Given the description of an element on the screen output the (x, y) to click on. 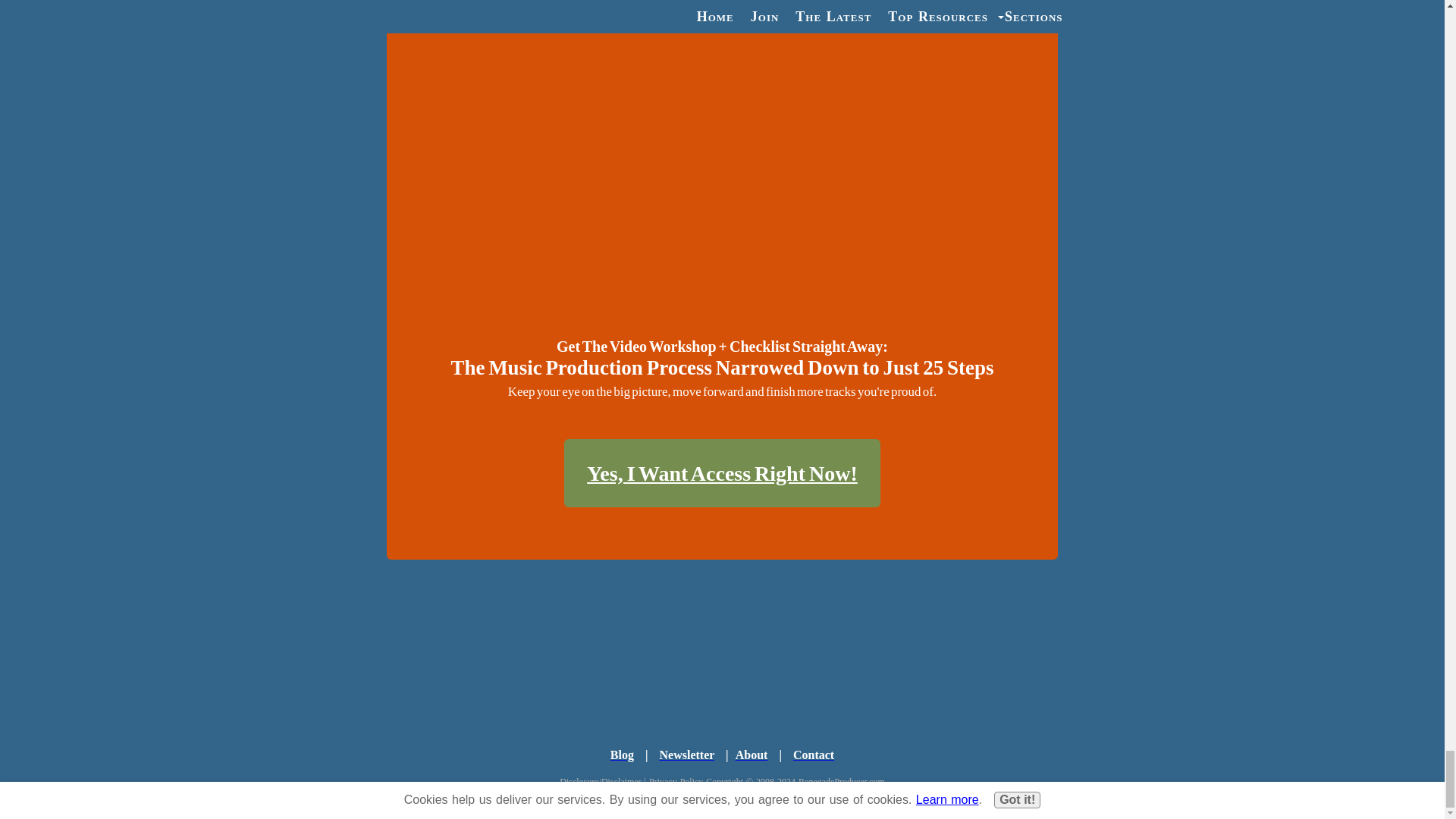
Go to RenegadeProducer - Produce Music Like a Pro (722, 679)
Yes, I Want Access Right Now! (722, 472)
